Given the description of an element on the screen output the (x, y) to click on. 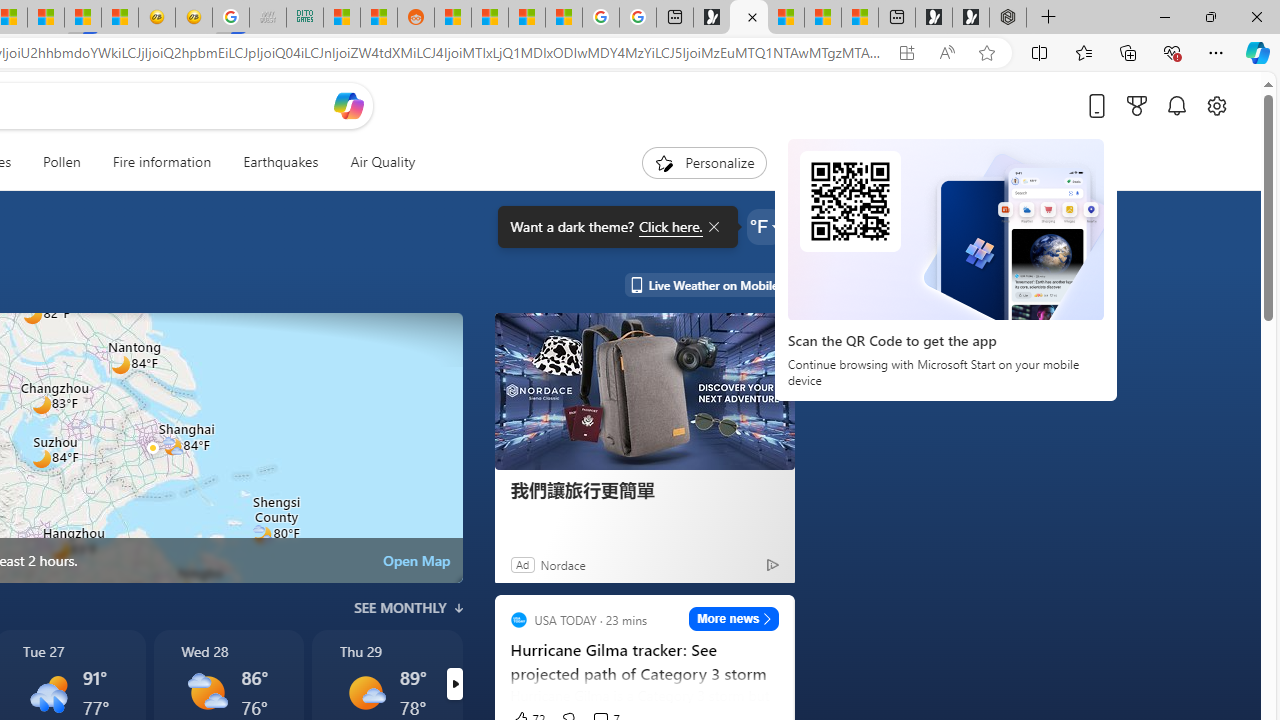
Fire information (162, 162)
Rain showers (49, 692)
Fire information (161, 162)
Earthquakes (280, 162)
Mostly sunny (365, 692)
Open Map (416, 560)
